Given the description of an element on the screen output the (x, y) to click on. 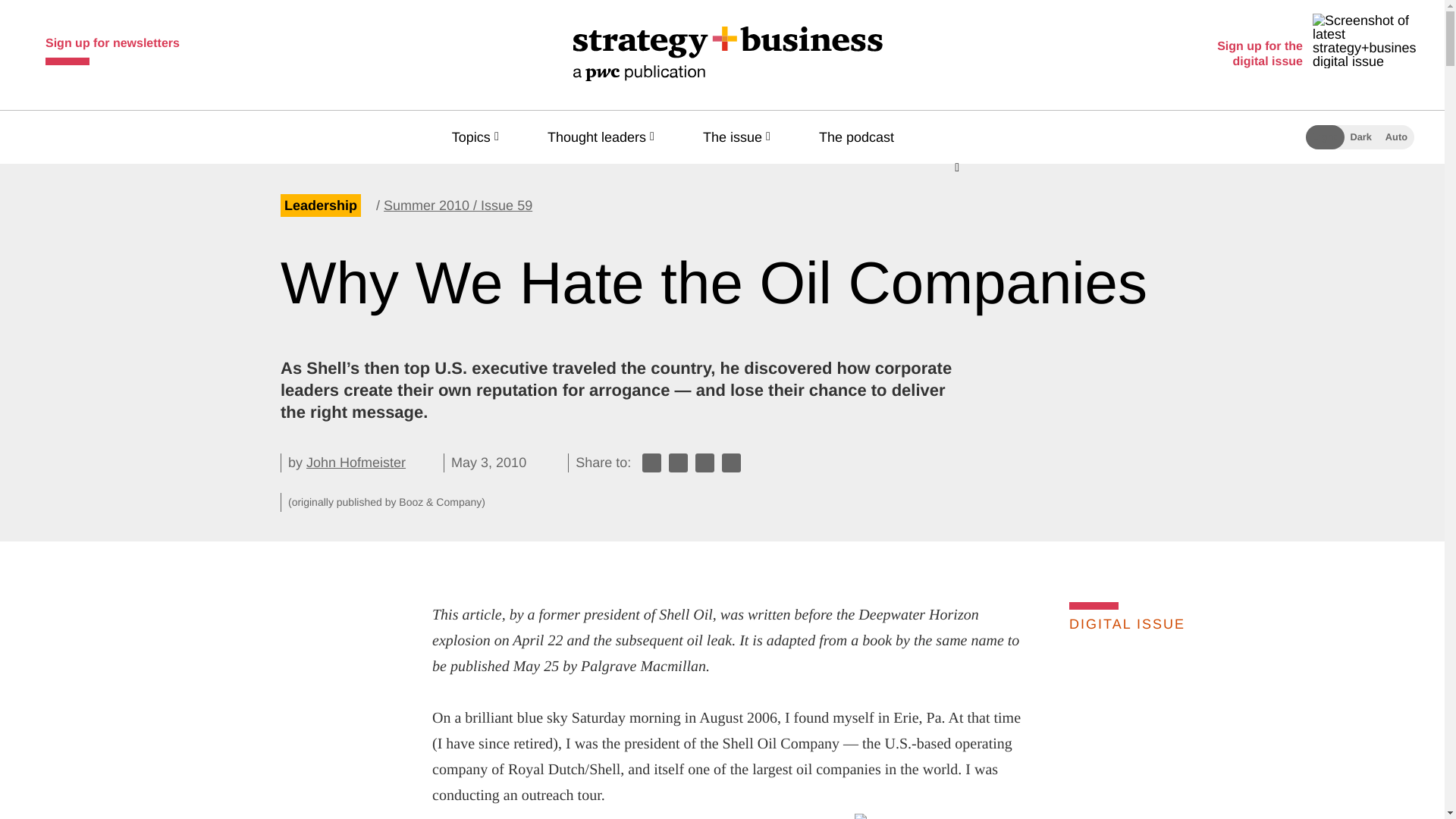
The podcast (863, 136)
Thought leaders (604, 136)
Topics (478, 136)
The issue (740, 136)
A collection of topics for thought leaders (604, 136)
Sign up for newsletters (112, 47)
Sign up for the digital issue (1313, 54)
Illustration of flying birds delivering information (1033, 816)
Latest issue  (1193, 732)
